Given the description of an element on the screen output the (x, y) to click on. 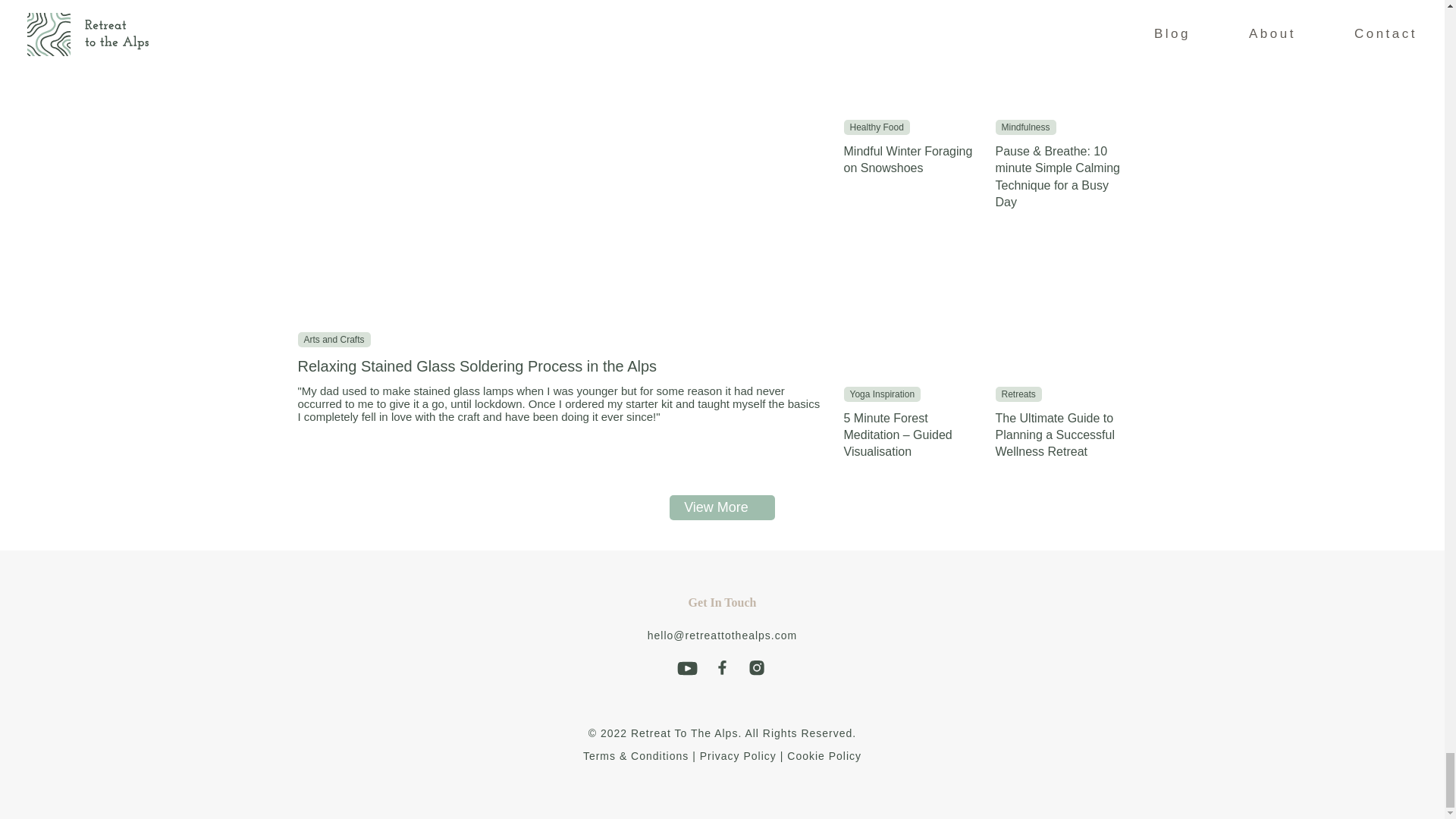
Cookie Policy (824, 756)
View More (721, 507)
Privacy Policy (738, 756)
